Given the description of an element on the screen output the (x, y) to click on. 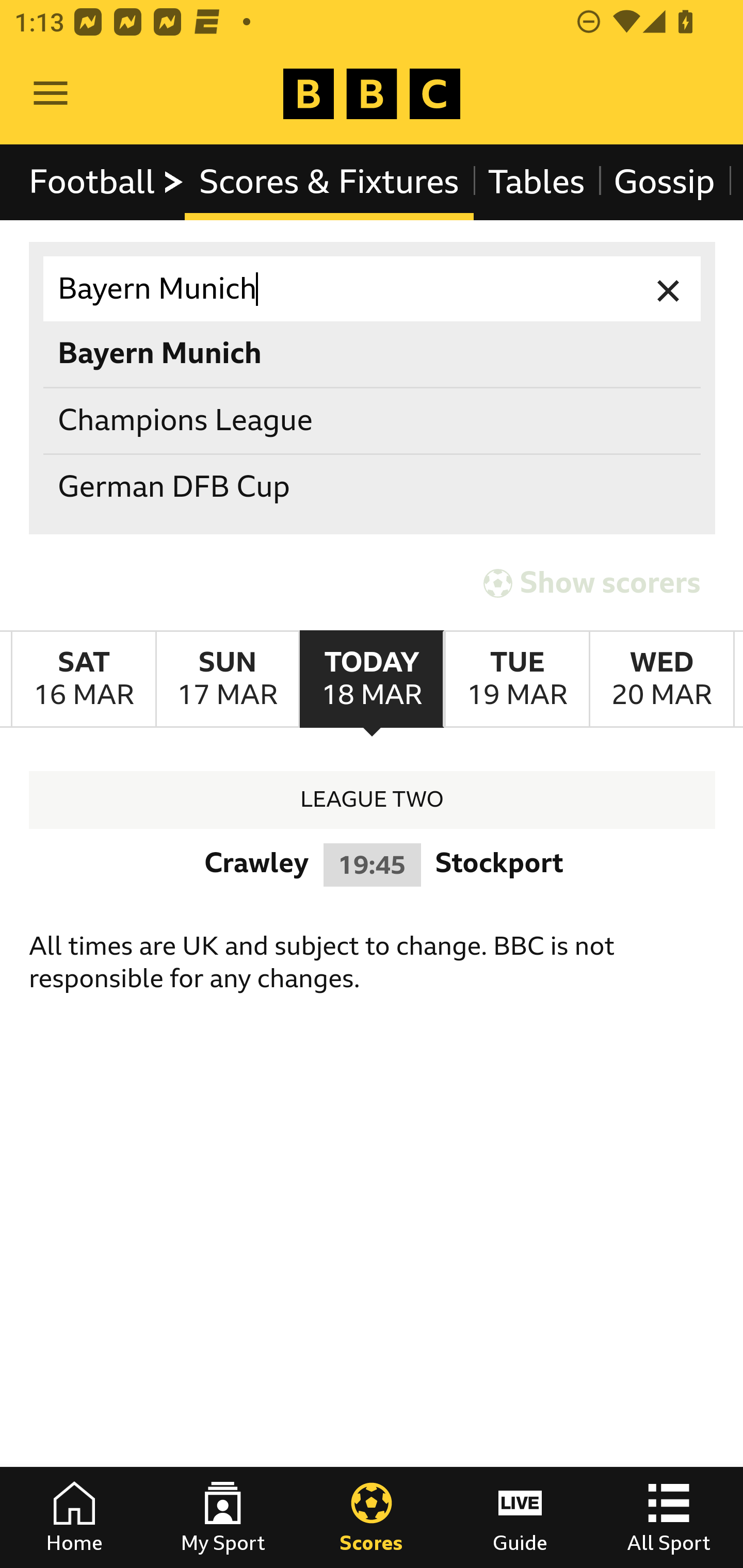
Open Menu (50, 93)
Football  (106, 181)
Scores & Fixtures (329, 181)
Tables (536, 181)
Gossip (664, 181)
Bayern Munich (372, 289)
Clear input (669, 289)
Champions League (372, 419)
German DFB Cup (372, 488)
Show scorers (591, 582)
SaturdayMarch 16th Saturday March 16th (83, 678)
SundayMarch 17th Sunday March 17th (227, 678)
TuesdayMarch 19th Tuesday March 19th (516, 678)
WednesdayMarch 20th Wednesday March 20th (661, 678)
Home (74, 1517)
My Sport (222, 1517)
Guide (519, 1517)
All Sport (668, 1517)
